Given the description of an element on the screen output the (x, y) to click on. 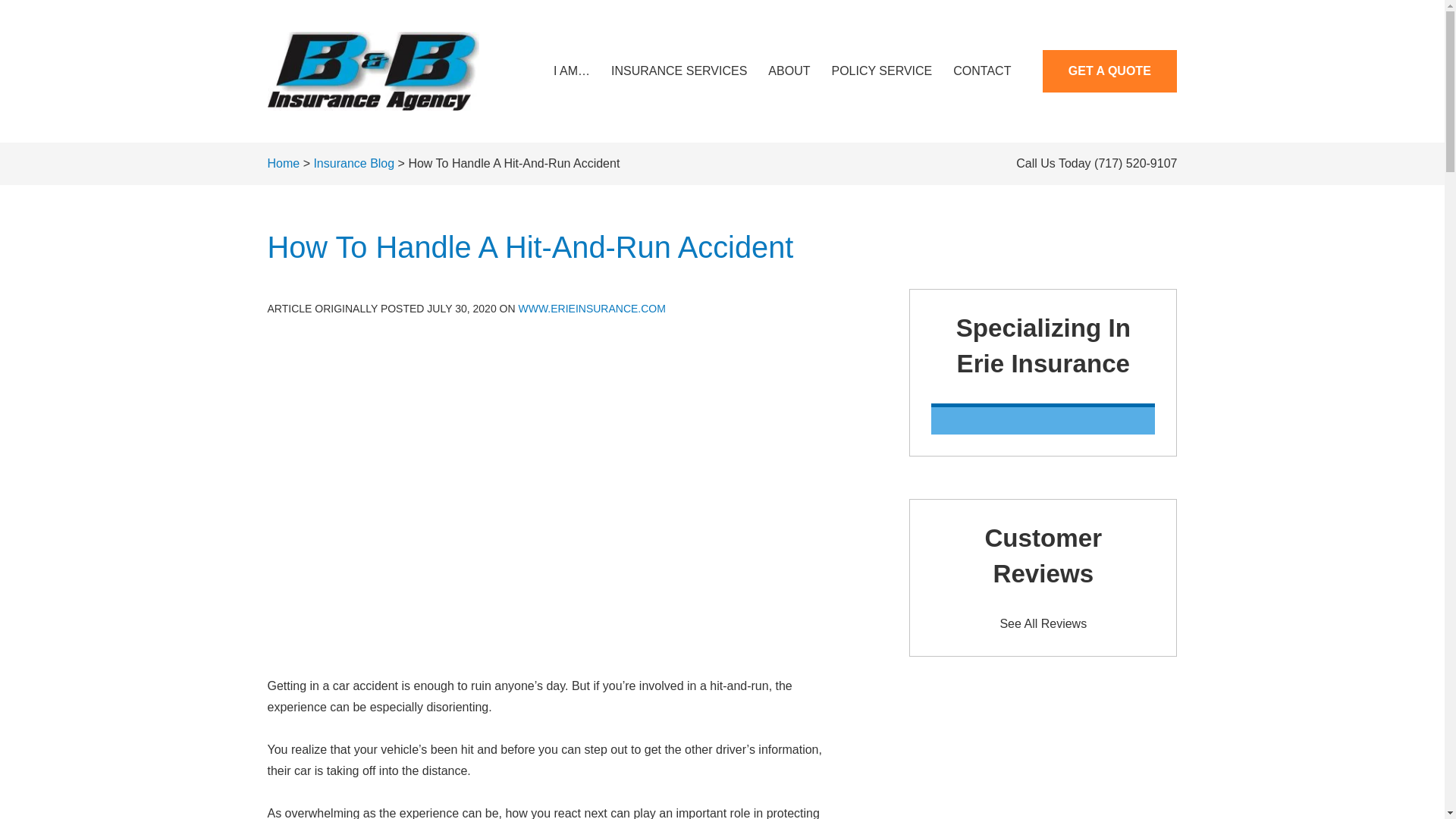
ABOUT (789, 70)
INSURANCE SERVICES (678, 70)
